Given the description of an element on the screen output the (x, y) to click on. 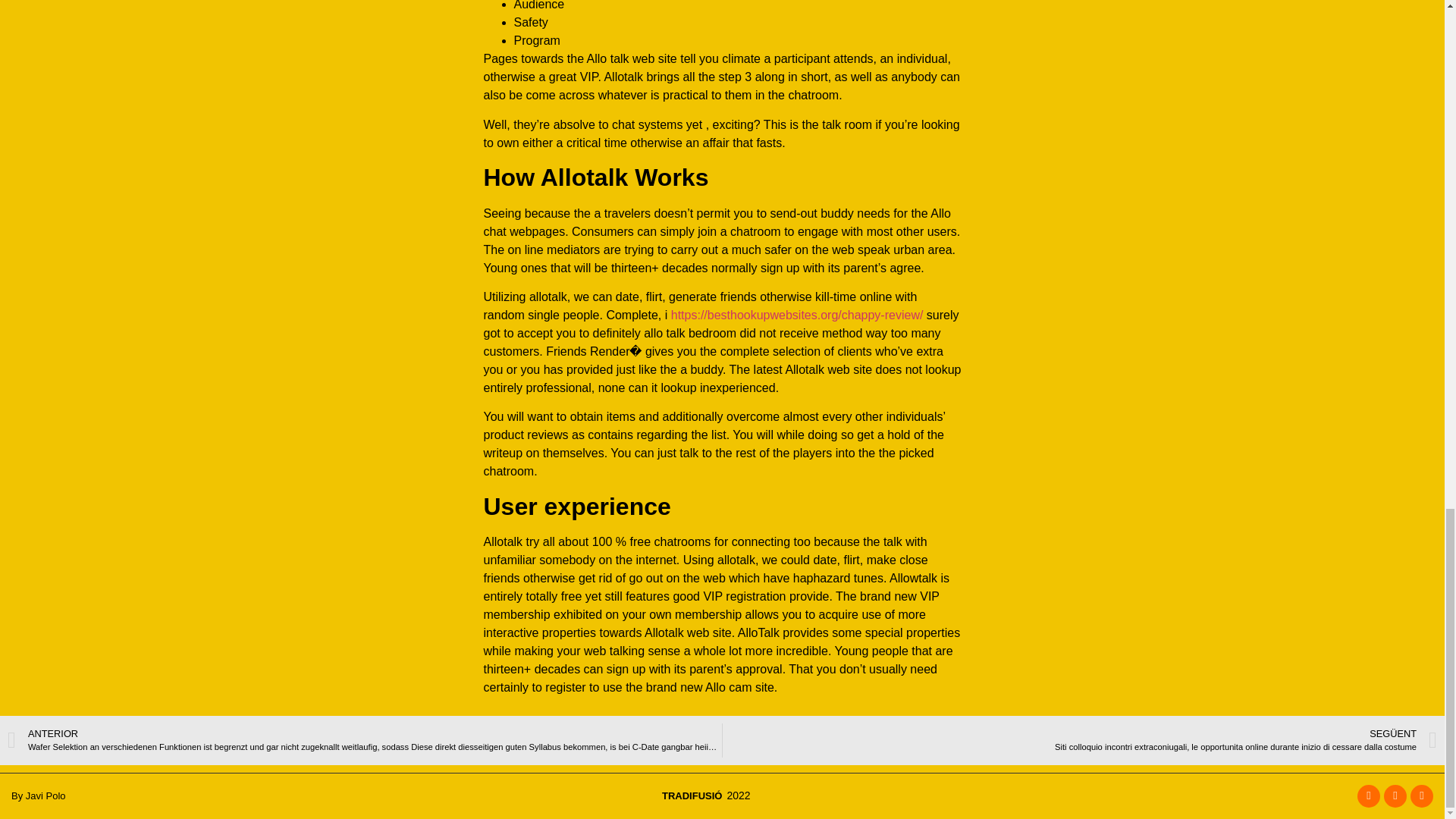
2022 (735, 795)
